Given the description of an element on the screen output the (x, y) to click on. 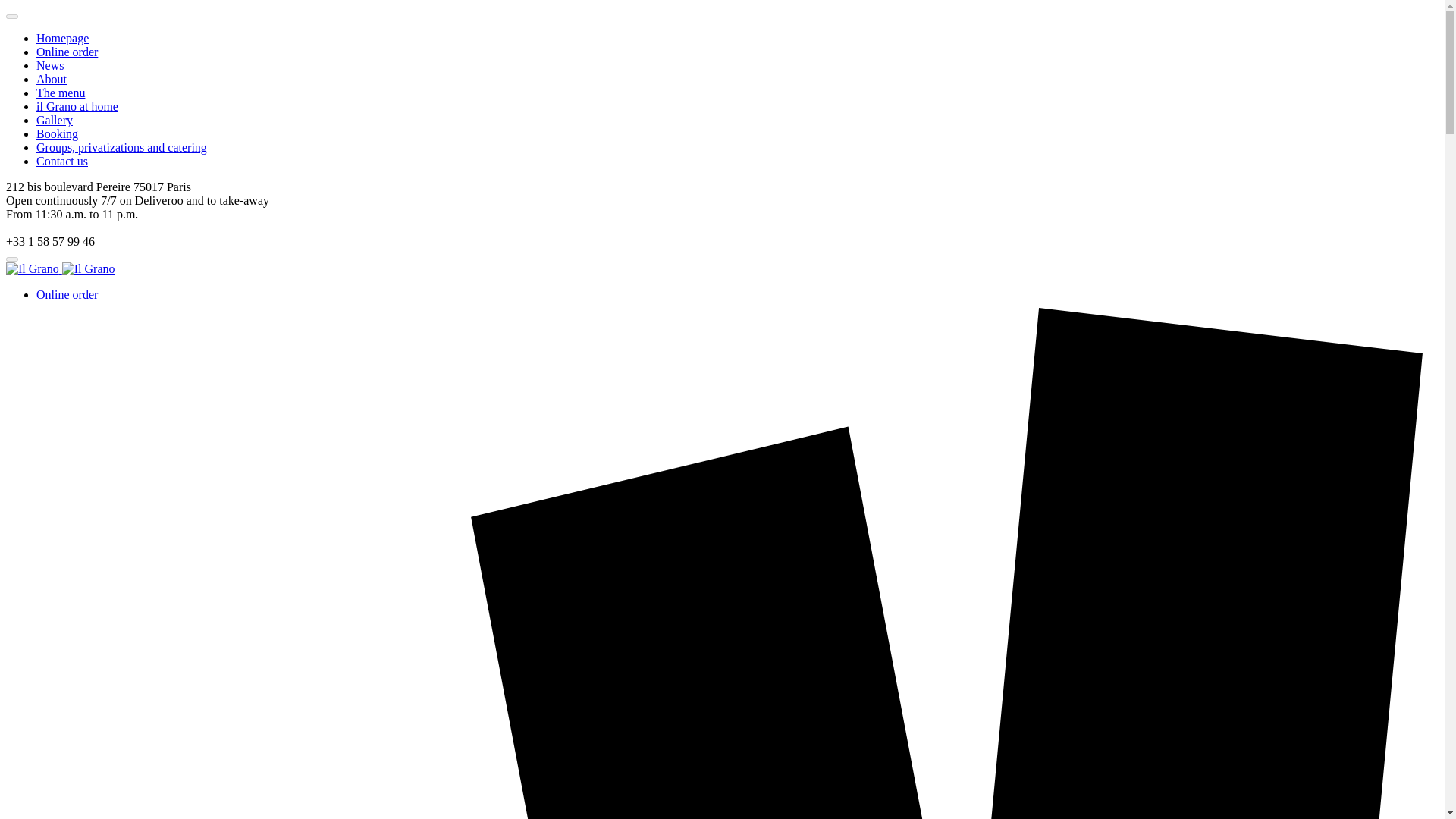
Gallery (54, 119)
Online order (66, 51)
Homepage (62, 38)
il Grano at home (76, 106)
Contact us (61, 160)
Booking (57, 133)
The menu (60, 92)
News (50, 65)
Groups, privatizations and catering (121, 146)
About (51, 78)
Online order (66, 294)
